Given the description of an element on the screen output the (x, y) to click on. 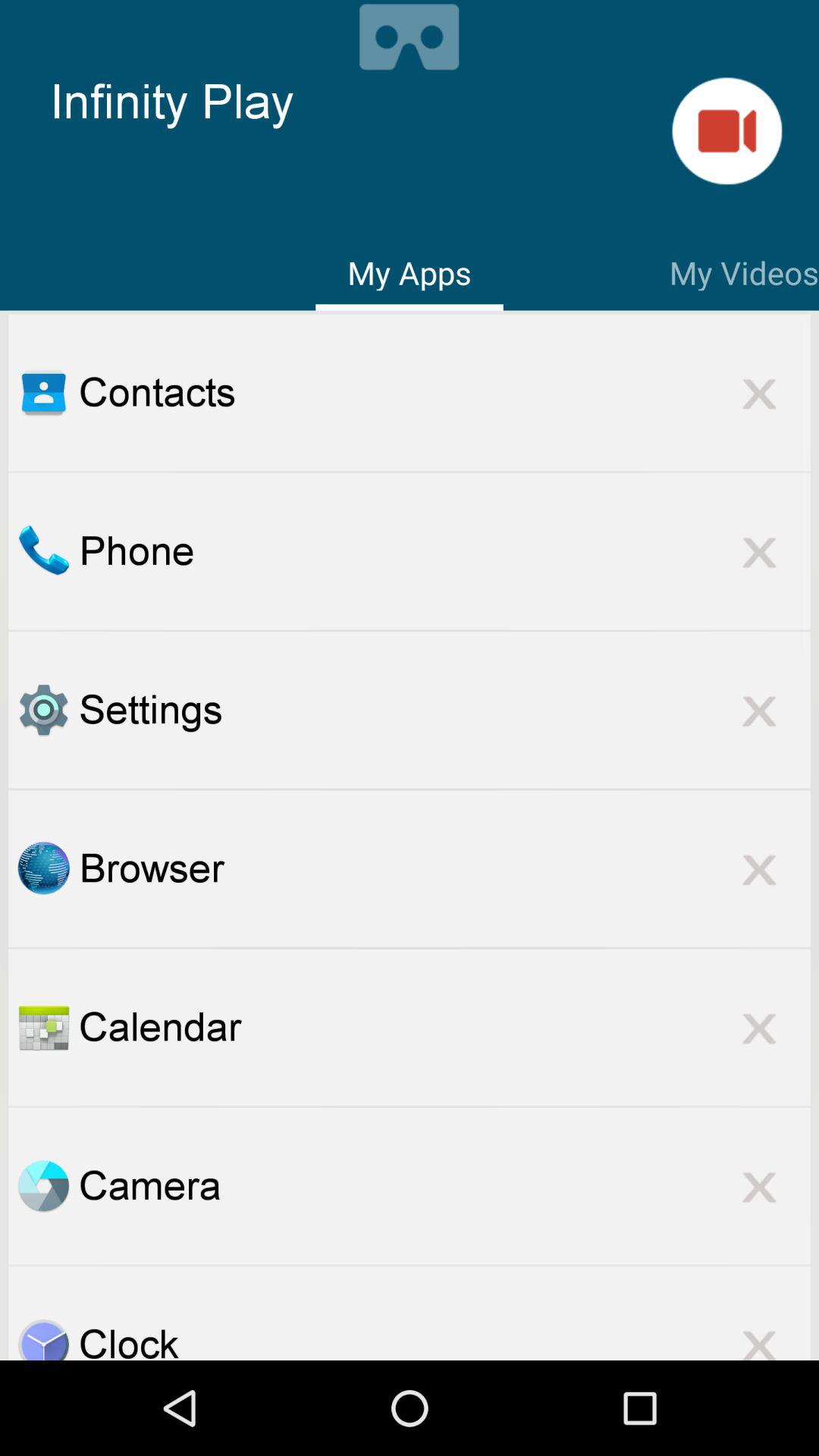
open clock (43, 1338)
